Given the description of an element on the screen output the (x, y) to click on. 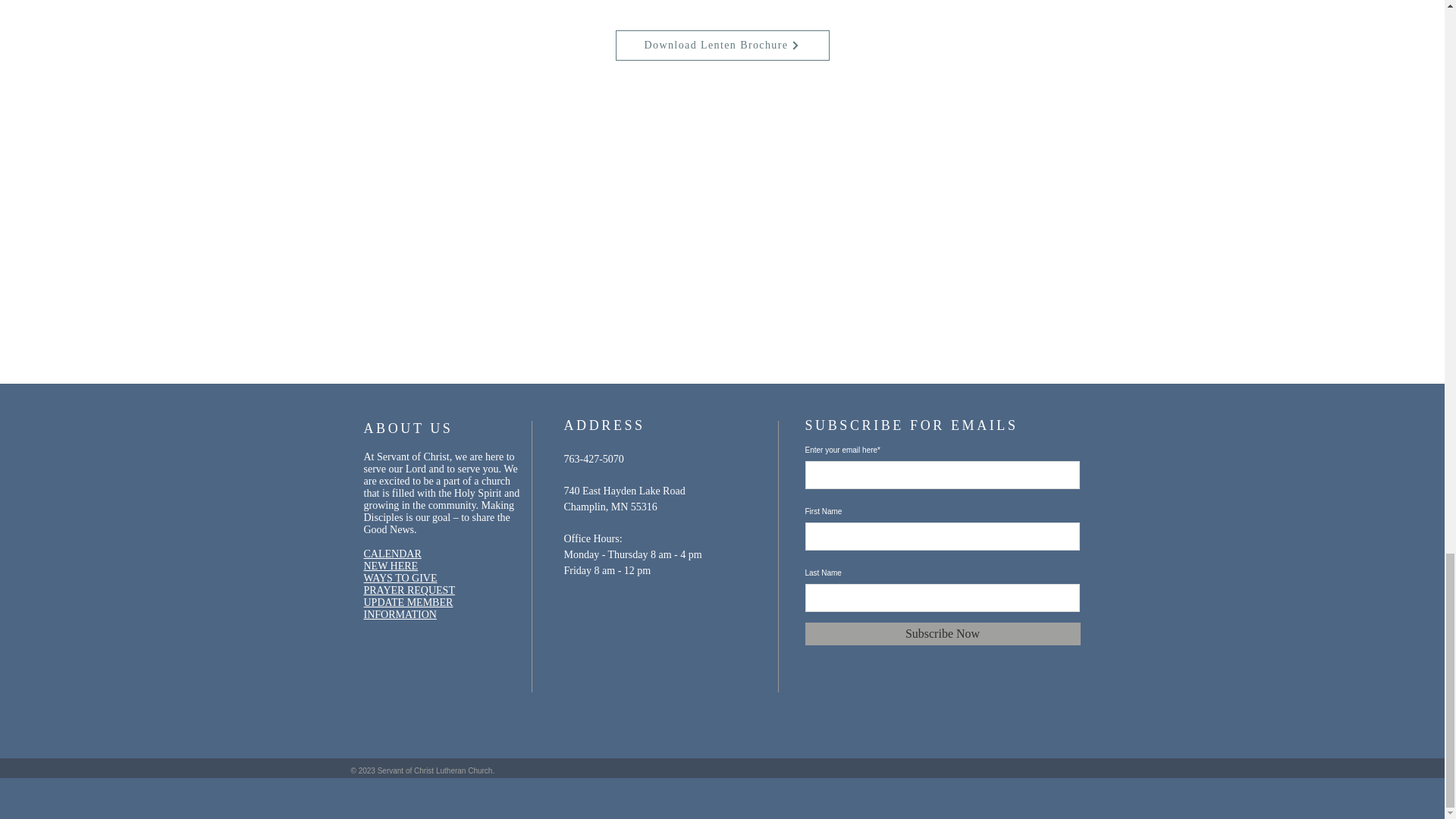
PRAYER REQUEST (409, 590)
Download Lenten Brochure (722, 45)
CALENDAR (393, 553)
Subscribe Now (942, 633)
UPDATE MEMBER INFORMATION (408, 608)
WAYS TO GIVE (401, 577)
NEW HERE (391, 565)
